Given the description of an element on the screen output the (x, y) to click on. 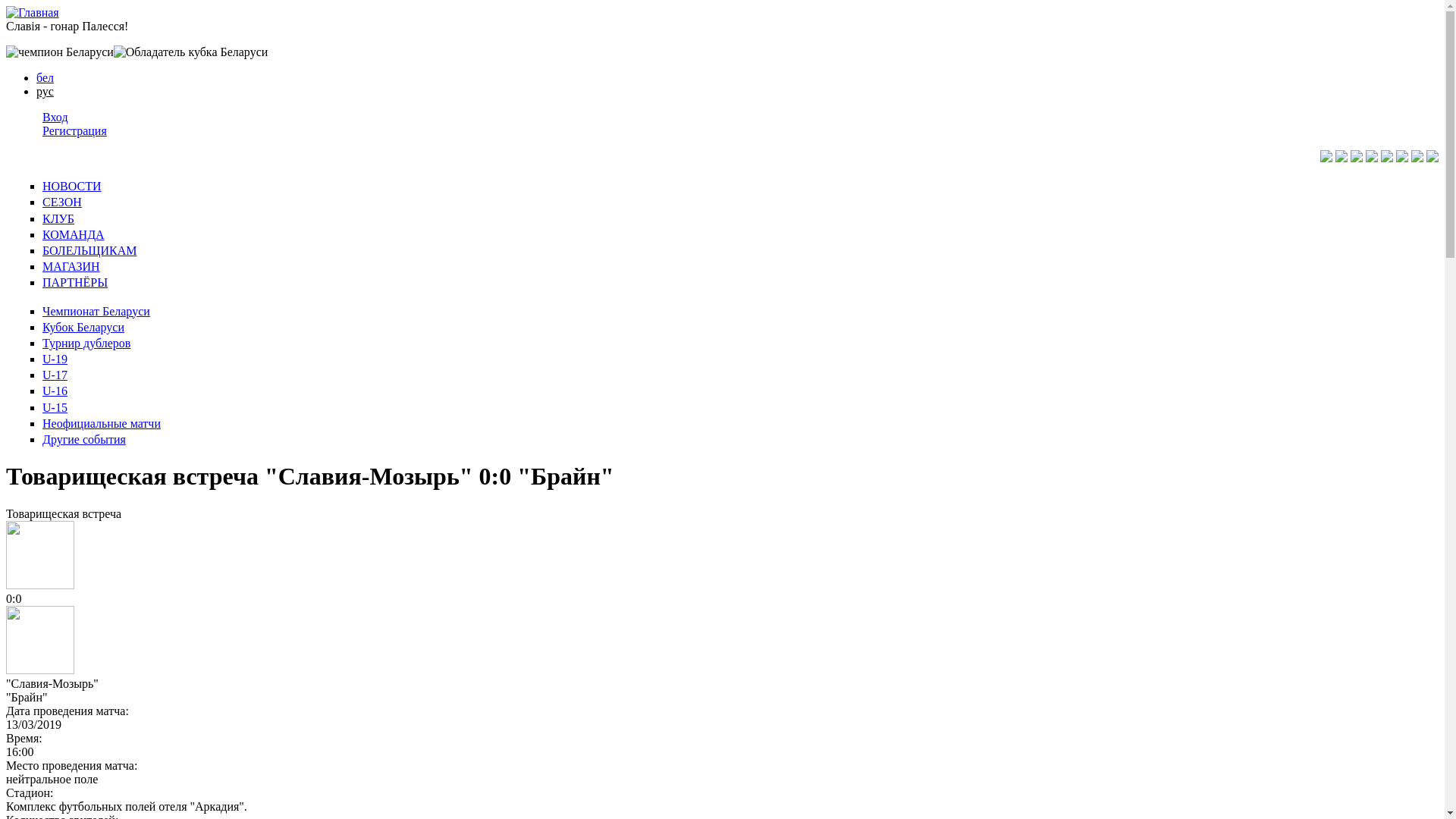
U-15 Element type: text (54, 407)
U-19 Element type: text (54, 358)
U-16 Element type: text (54, 390)
U-17 Element type: text (54, 374)
